Given the description of an element on the screen output the (x, y) to click on. 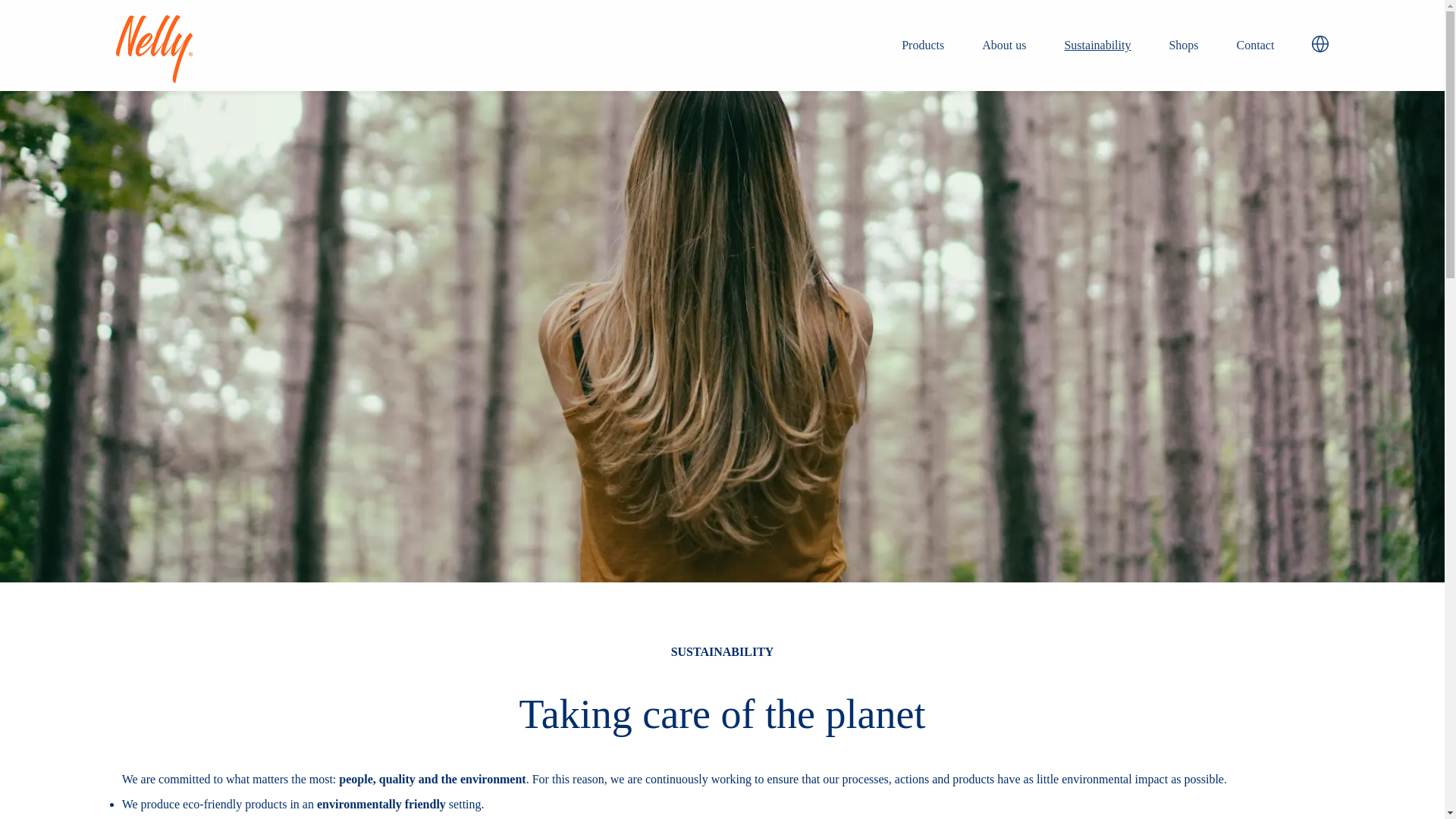
Products (922, 45)
About us (1003, 45)
Shops (1183, 45)
Sustainability (1097, 45)
Contact (1255, 45)
